Given the description of an element on the screen output the (x, y) to click on. 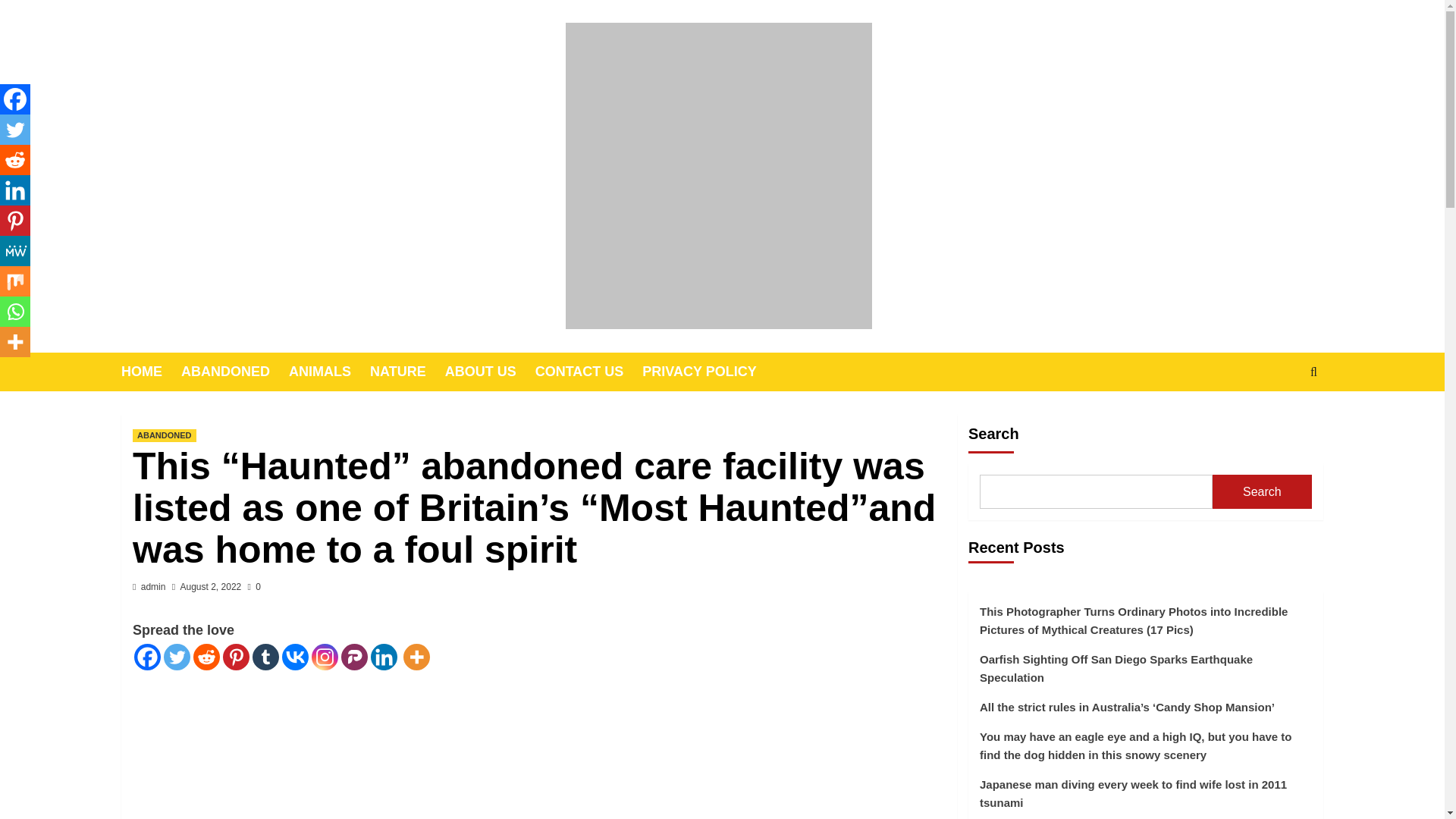
Vkontakte (295, 656)
Facebook (146, 656)
HOME (150, 371)
Tumblr (265, 656)
Reddit (206, 656)
PRIVACY POLICY (708, 371)
Linkedin (384, 656)
Advertisement (538, 745)
Twitter (176, 656)
More (416, 656)
